Given the description of an element on the screen output the (x, y) to click on. 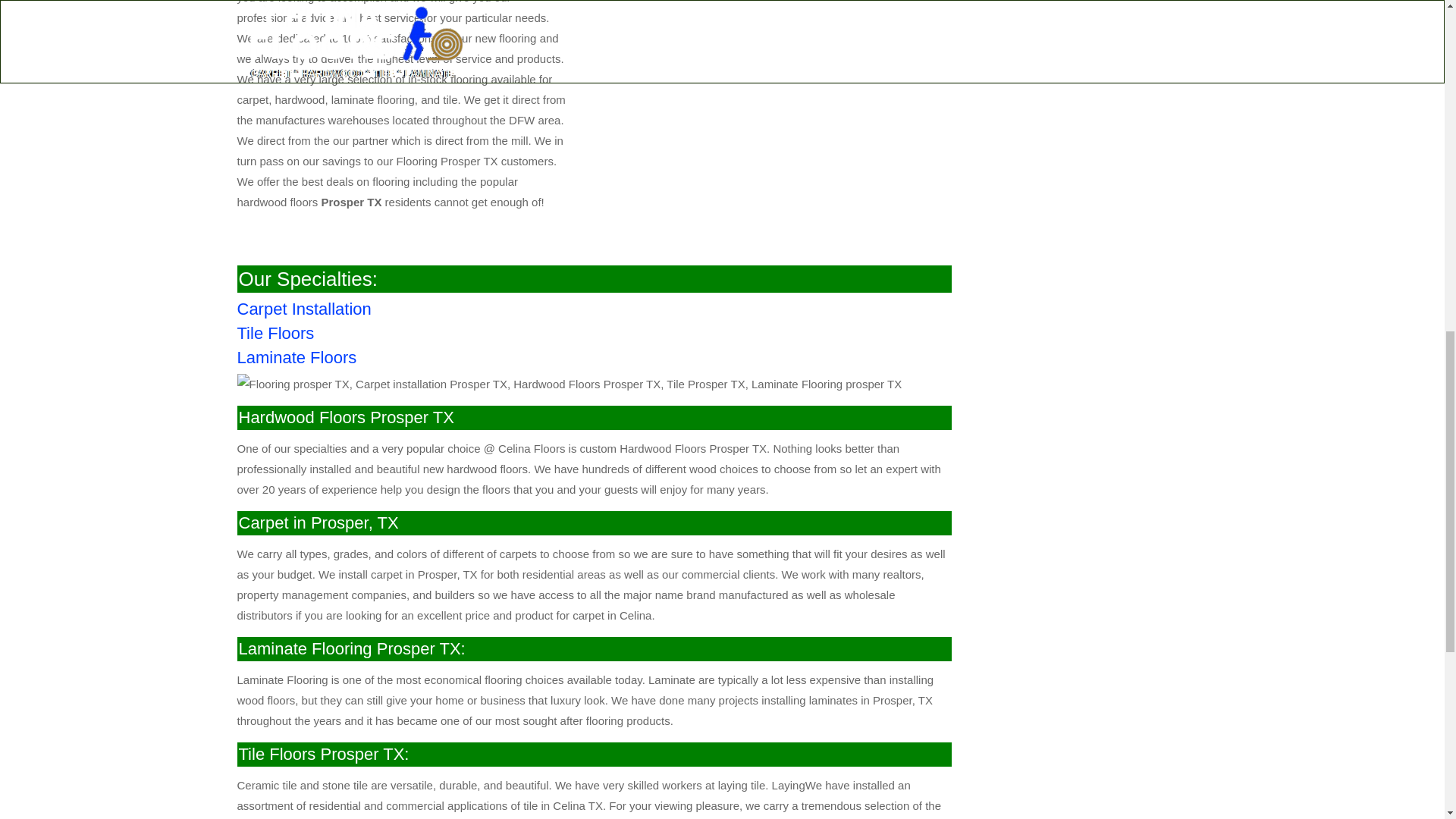
Carpet Installation (274, 333)
Tile Floors (274, 333)
Carpet Installation (303, 308)
Carpet Installation (303, 308)
Laminate Floors (295, 357)
Laminate Flooring (295, 357)
